Given the description of an element on the screen output the (x, y) to click on. 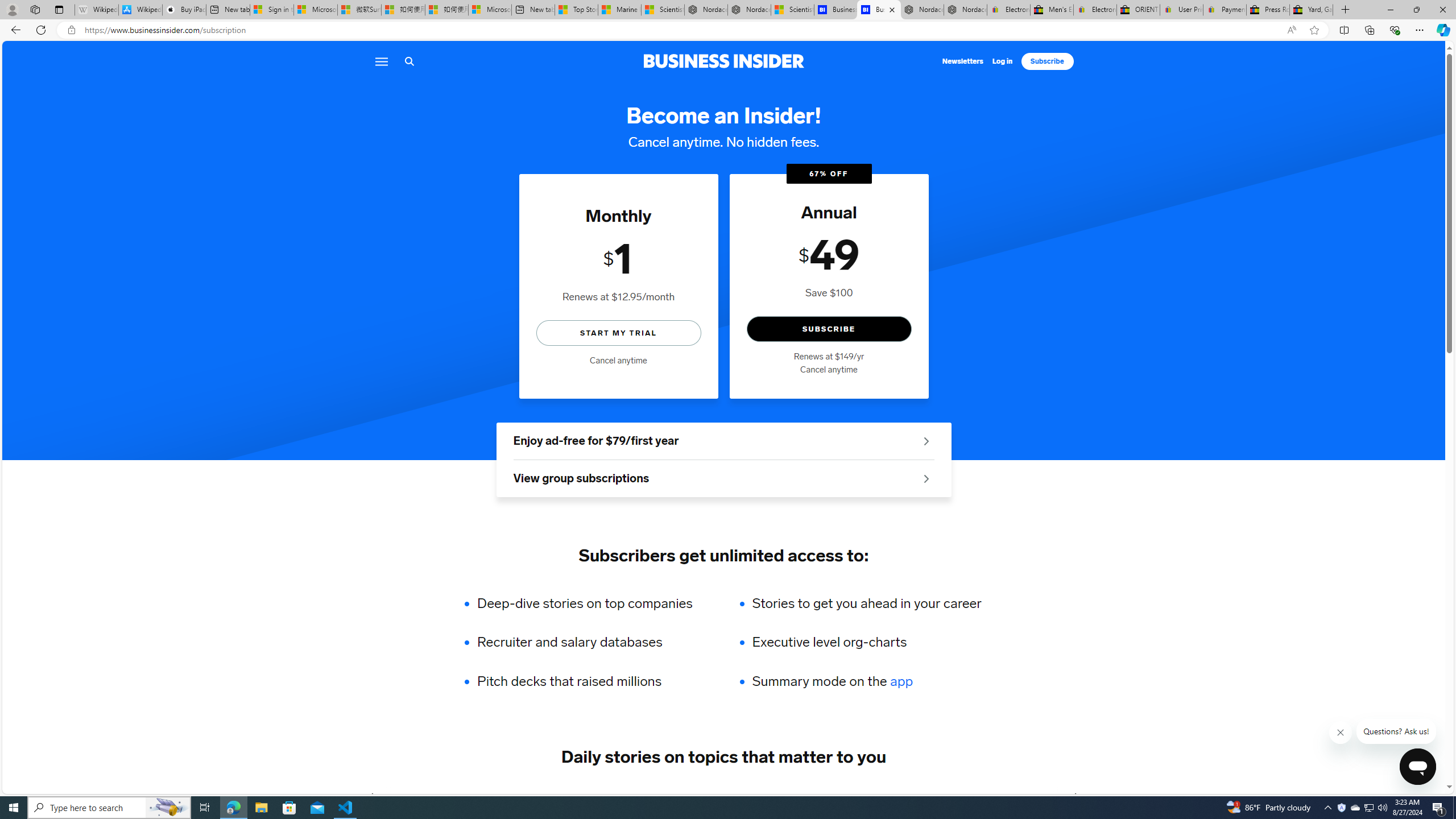
EXECUTIVE LIFESTYLE (910, 796)
Menu icon (380, 61)
Summary mode on the app (866, 681)
Subscribe (1047, 61)
Executive level org-charts (866, 642)
